Given the description of an element on the screen output the (x, y) to click on. 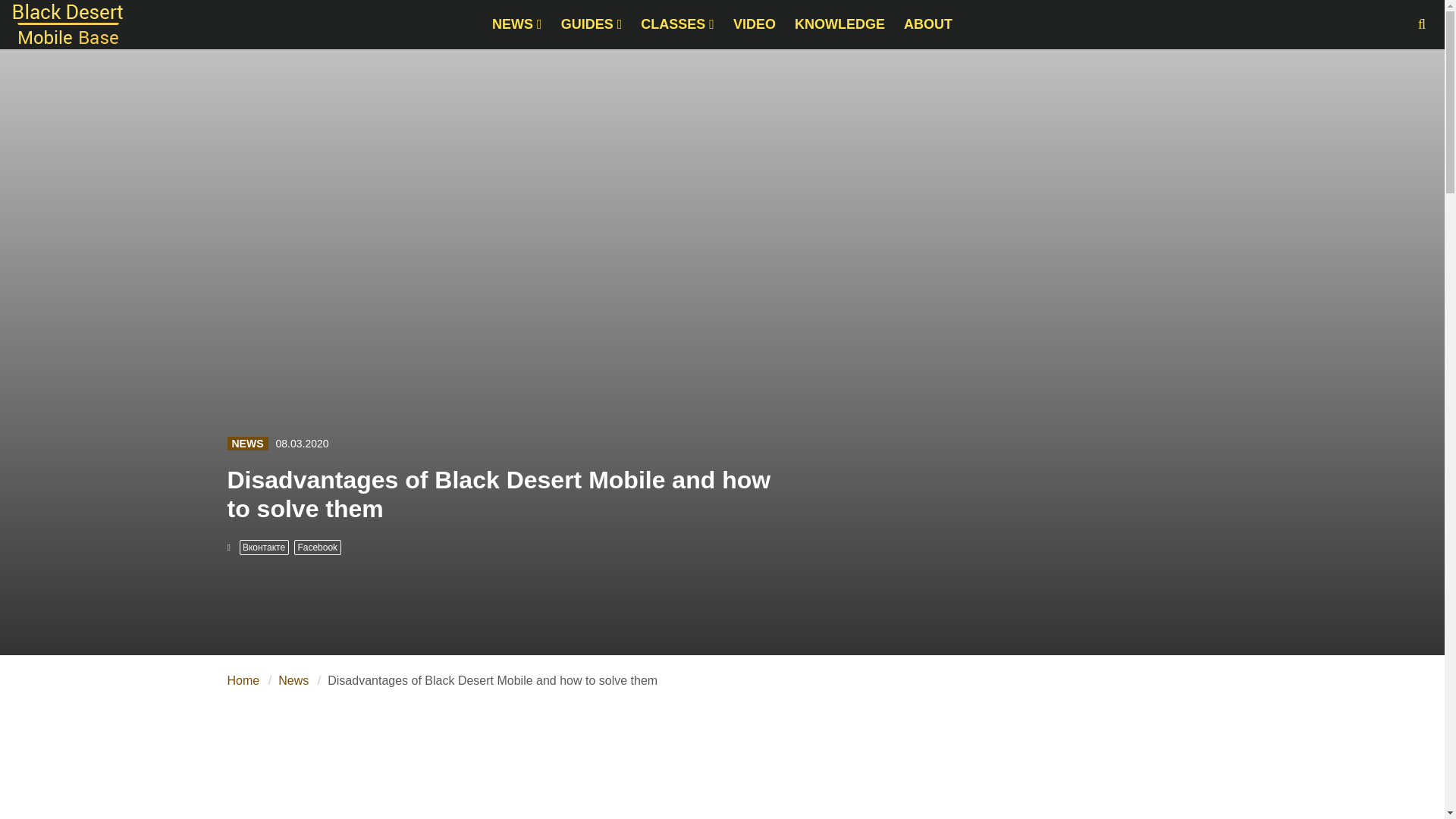
ABOUT (927, 24)
News (292, 681)
Home (243, 681)
CLASSES (677, 24)
VIDEO (754, 24)
KNOWLEDGE (839, 24)
GUIDES (591, 24)
NEWS (247, 443)
NEWS (517, 24)
